Given the description of an element on the screen output the (x, y) to click on. 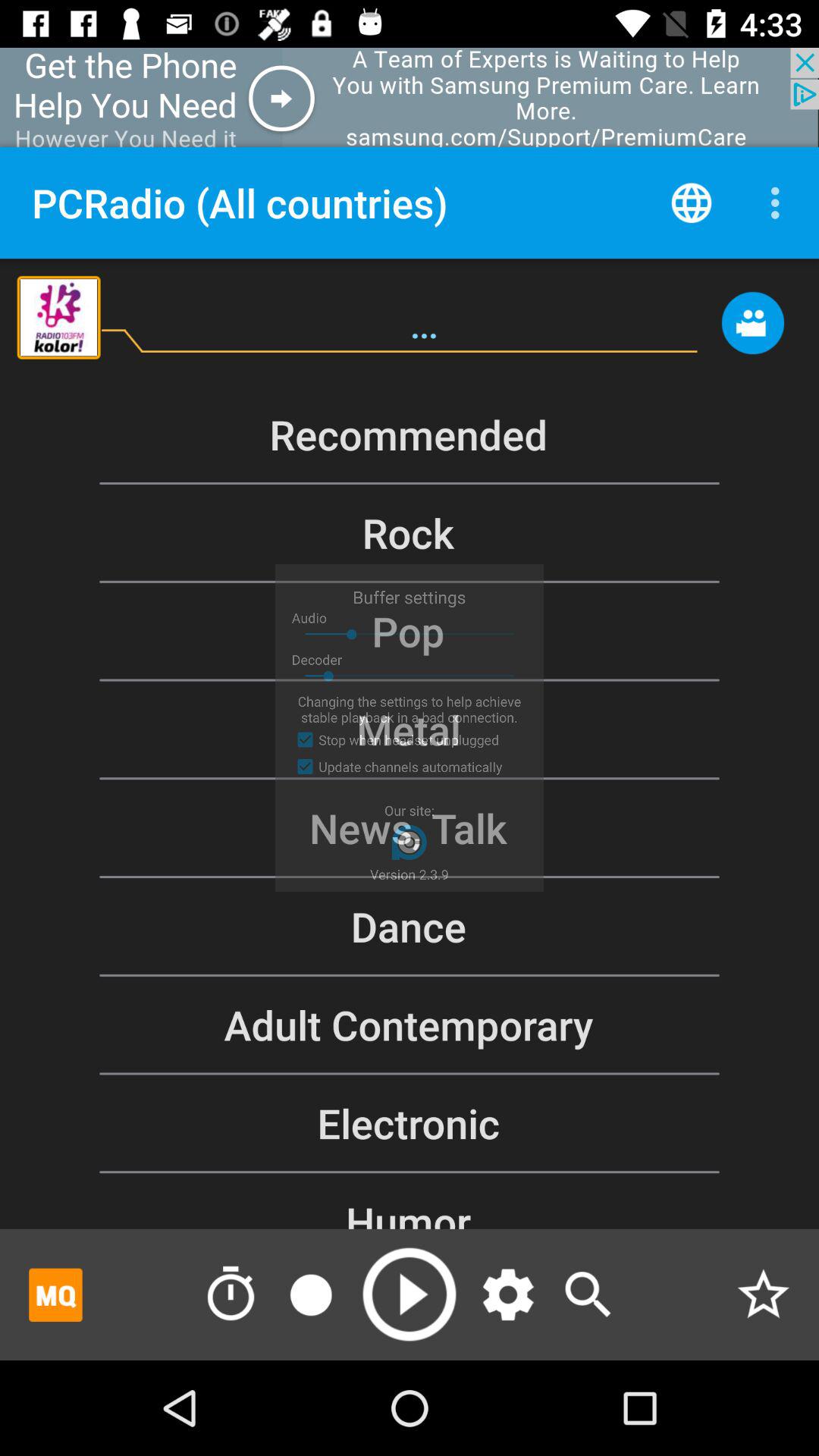
recording icone (310, 1294)
